Given the description of an element on the screen output the (x, y) to click on. 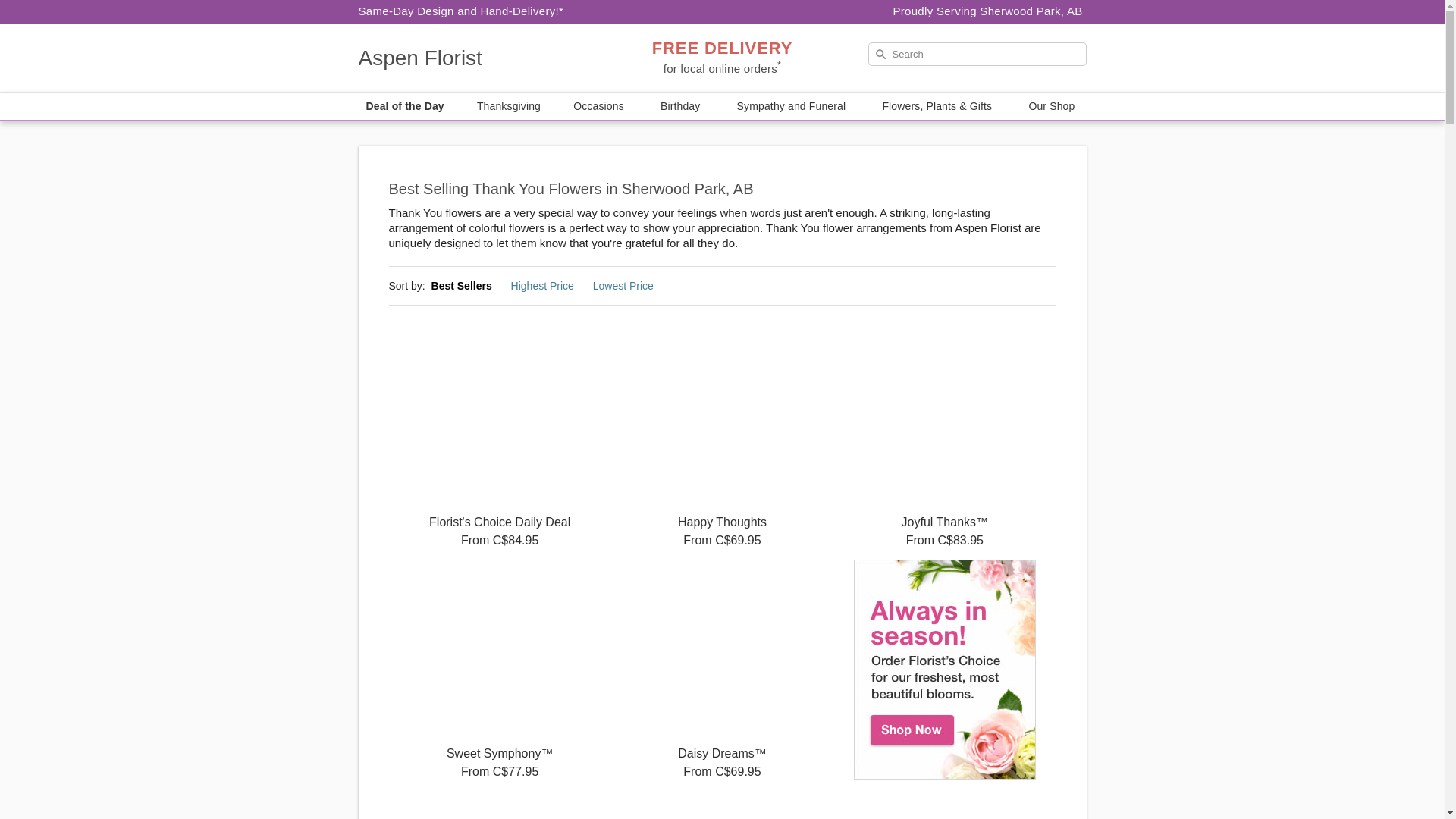
FREE DELIVERY
for local online orders* Element type: text (722, 58)
Florist's Choice Daily Deal
From C$84.95 Element type: text (499, 438)
Submit Search Form Element type: text (52, 7)
Deal of the Day Element type: hover (944, 669)
Thanksgiving Element type: text (508, 105)
Sympathy and Funeral Element type: text (793, 105)
Highest Price Element type: text (542, 285)
Birthday Element type: text (682, 105)
Same-Day Design and Hand-Delivery!* Element type: text (460, 10)
Flowers, Plants & Gifts Element type: text (938, 105)
Our Shop Element type: text (1052, 105)
Aspen Florist Element type: text (466, 58)
Deal of the Day Element type: text (404, 105)
Best Sellers Element type: text (461, 285)
Occasions Element type: text (600, 105)
Happy Thoughts
From C$69.95 Element type: text (722, 438)
Lowest Price Element type: text (623, 285)
